Given the description of an element on the screen output the (x, y) to click on. 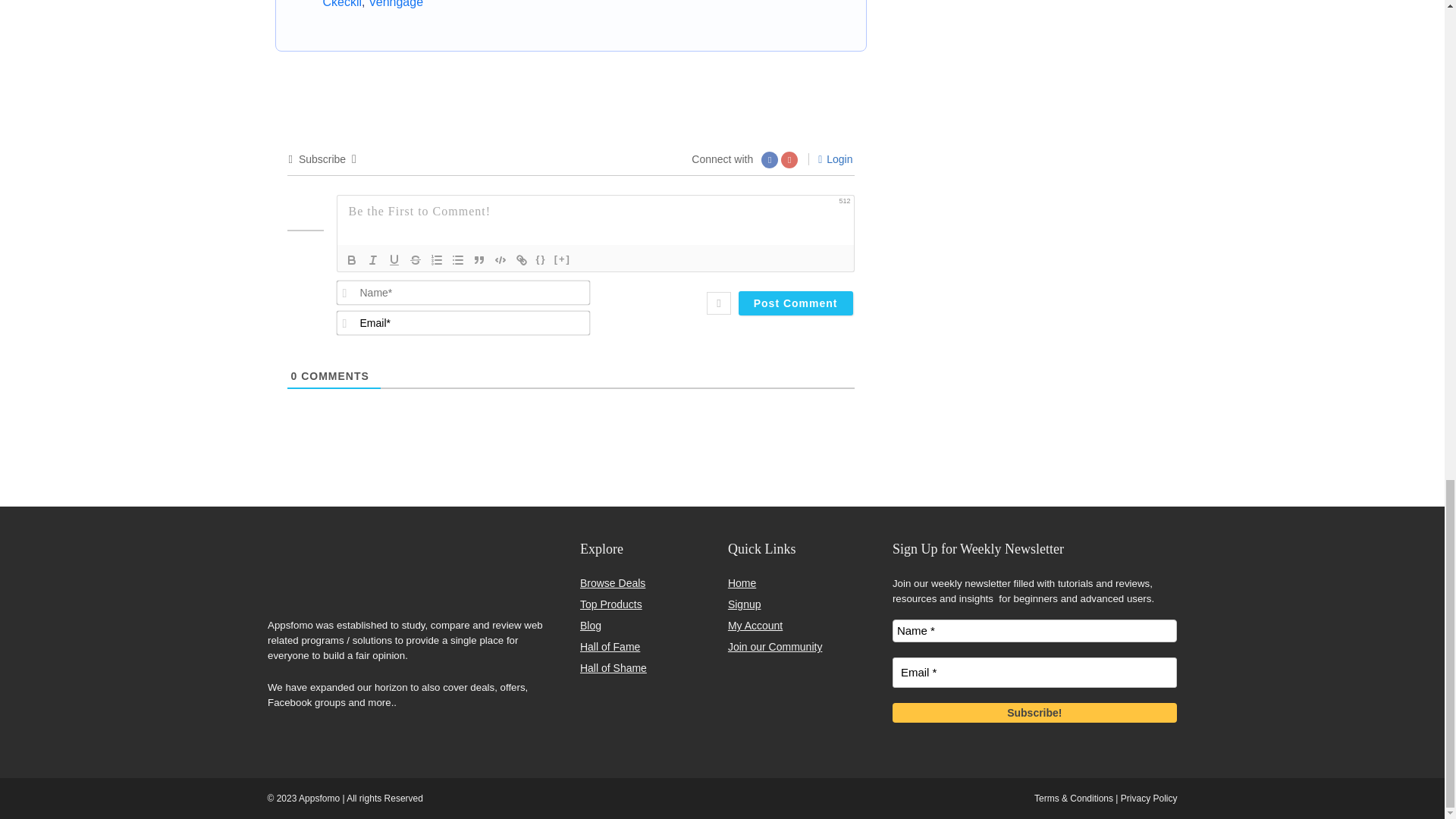
Source Code (541, 259)
Code Block (500, 259)
Italic (373, 259)
Bold (351, 259)
bullet (457, 259)
Strike (415, 259)
Ckeckli (342, 4)
Unordered List (457, 259)
Ordered List (436, 259)
Login (834, 159)
